Given the description of an element on the screen output the (x, y) to click on. 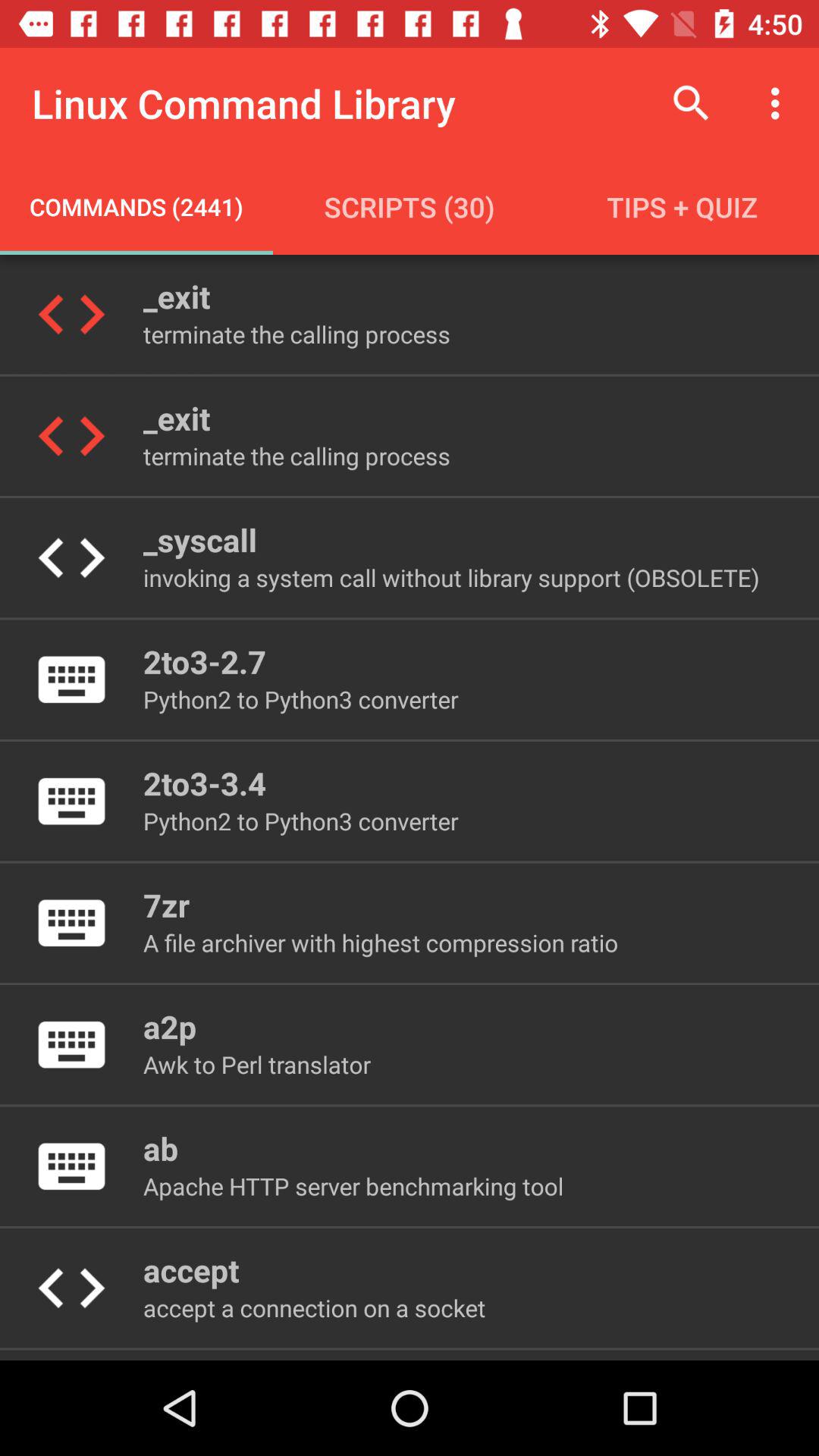
select the ab icon (160, 1147)
